Given the description of an element on the screen output the (x, y) to click on. 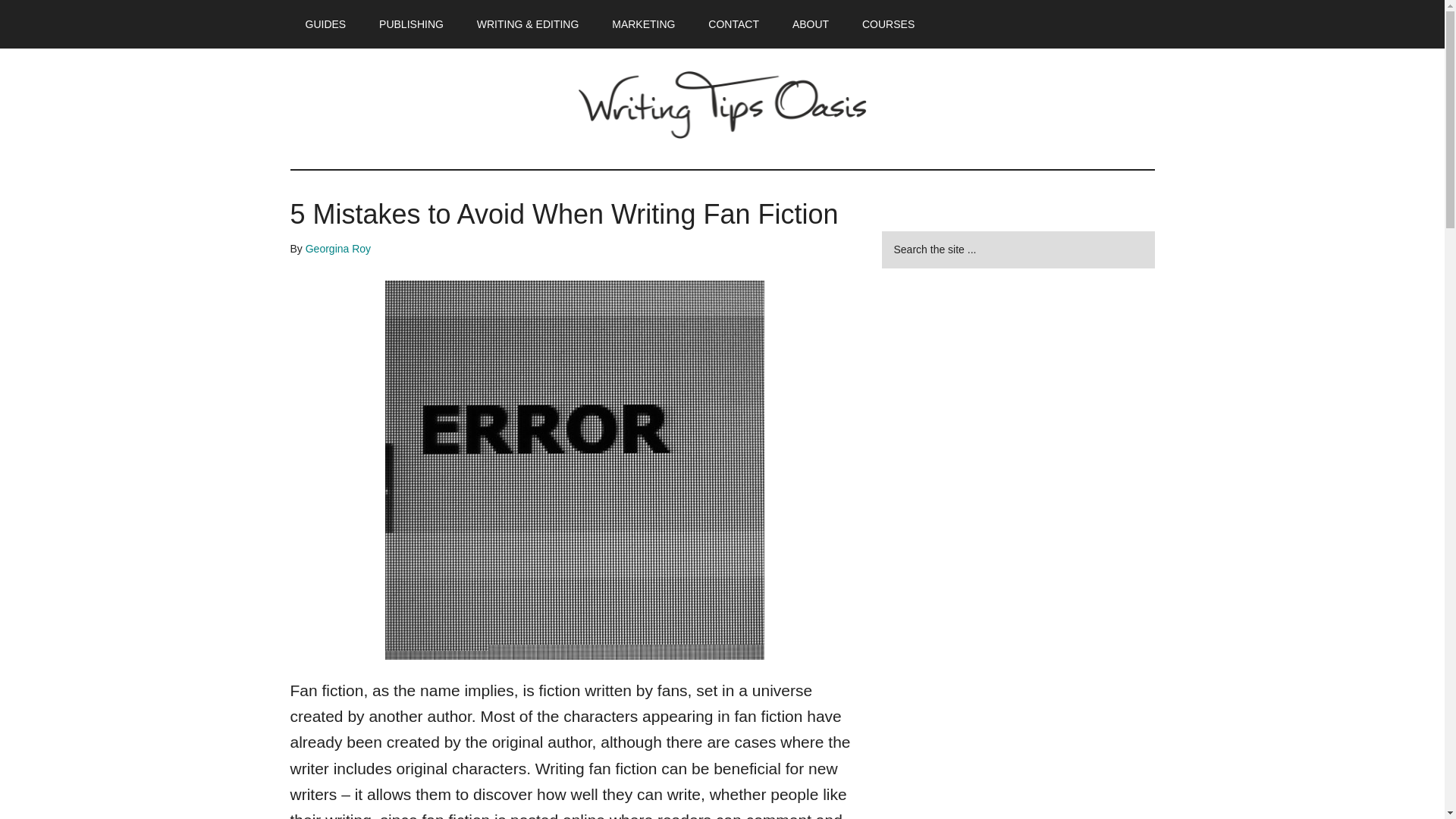
Georgina Roy (338, 248)
MARKETING (643, 24)
CONTACT (733, 24)
GUIDES (325, 24)
COURSES (888, 24)
ABOUT (810, 24)
PUBLISHING (411, 24)
